Given the description of an element on the screen output the (x, y) to click on. 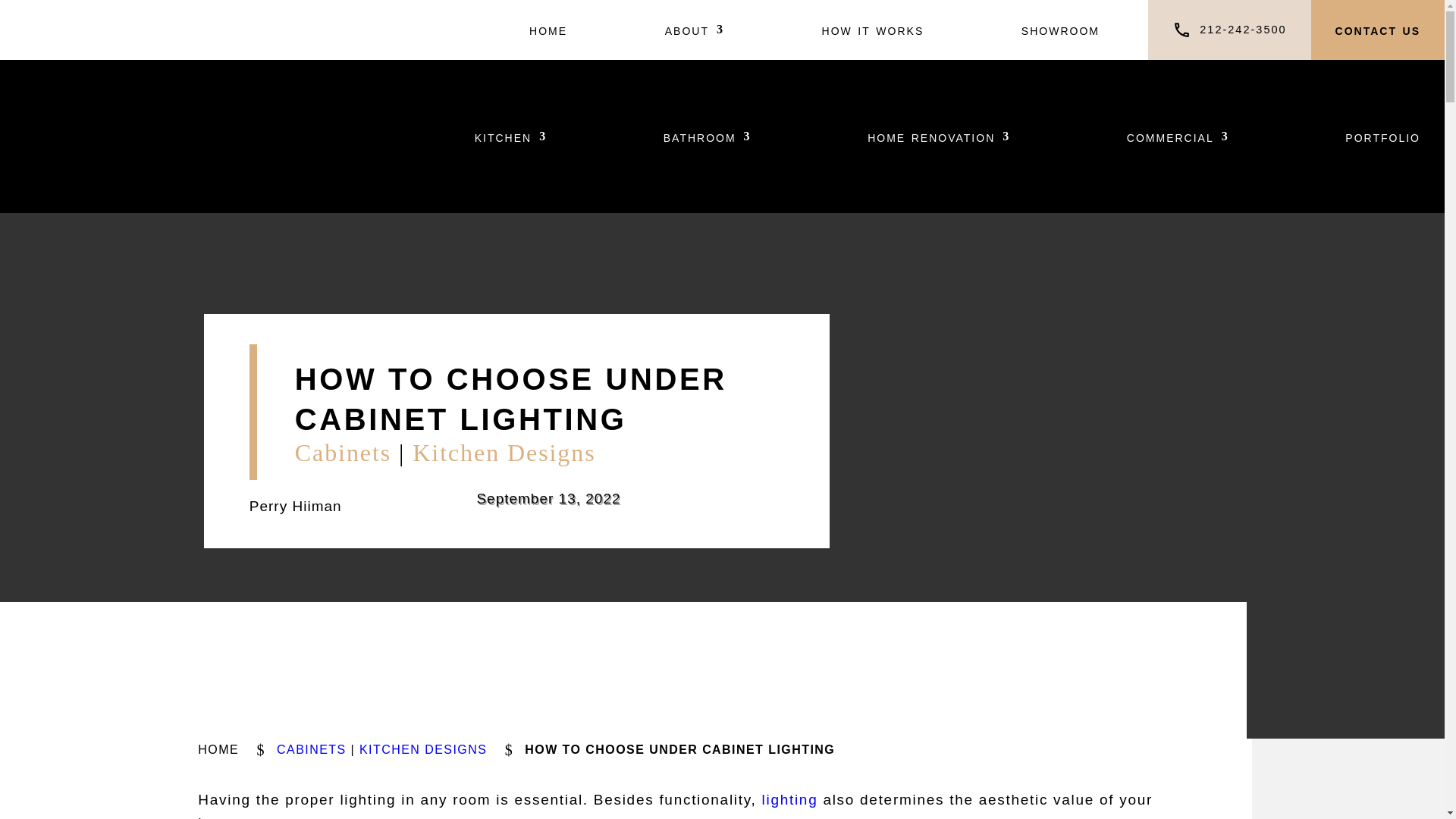
home (548, 29)
kitchen (510, 136)
212-242-3500 (1242, 29)
bathroom (707, 136)
showroom (1060, 29)
how it works (873, 29)
home renovation (938, 136)
about (694, 29)
portfolio (1383, 136)
commercial (1177, 136)
